Given the description of an element on the screen output the (x, y) to click on. 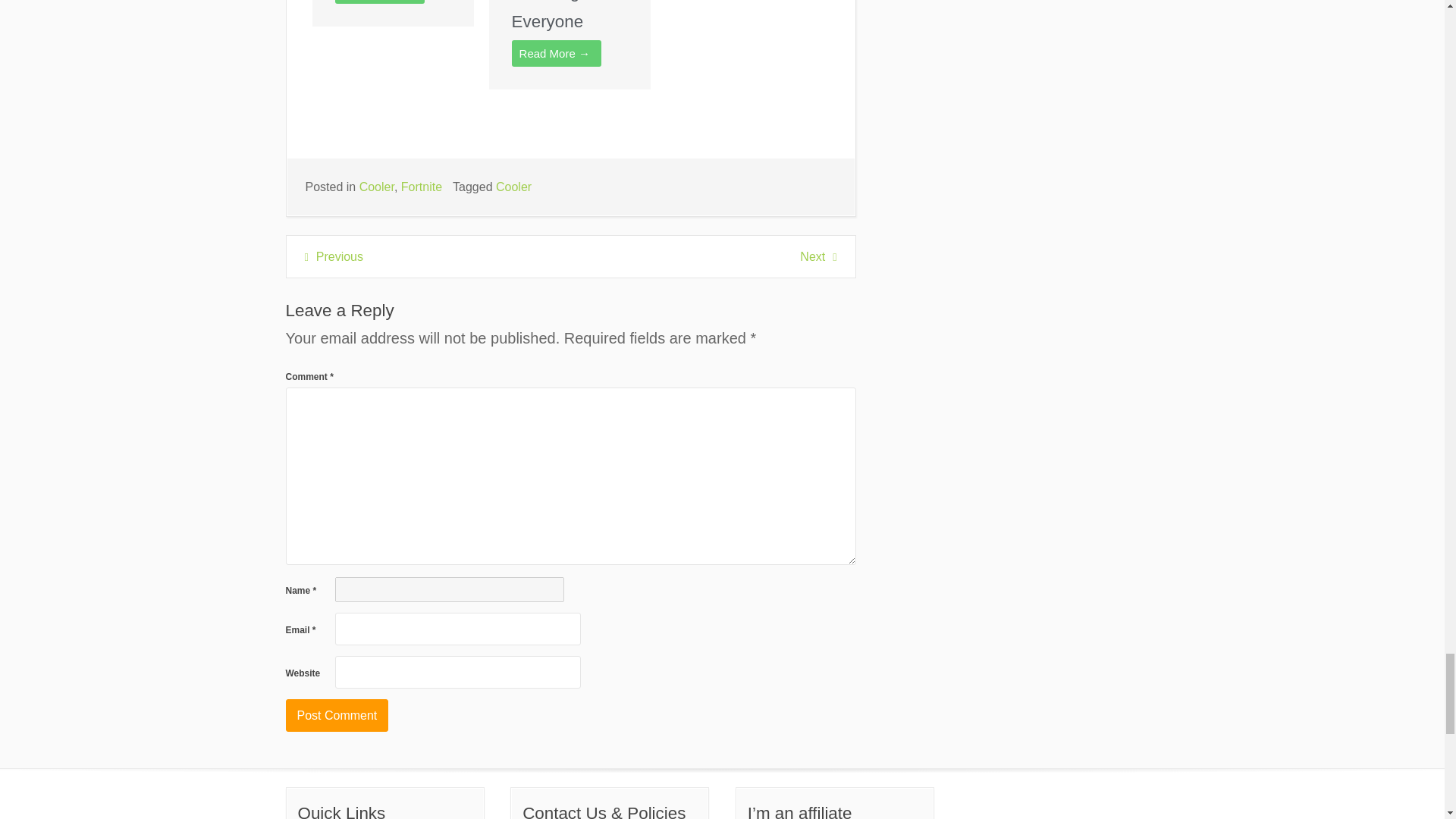
Post Comment (336, 715)
